Given the description of an element on the screen output the (x, y) to click on. 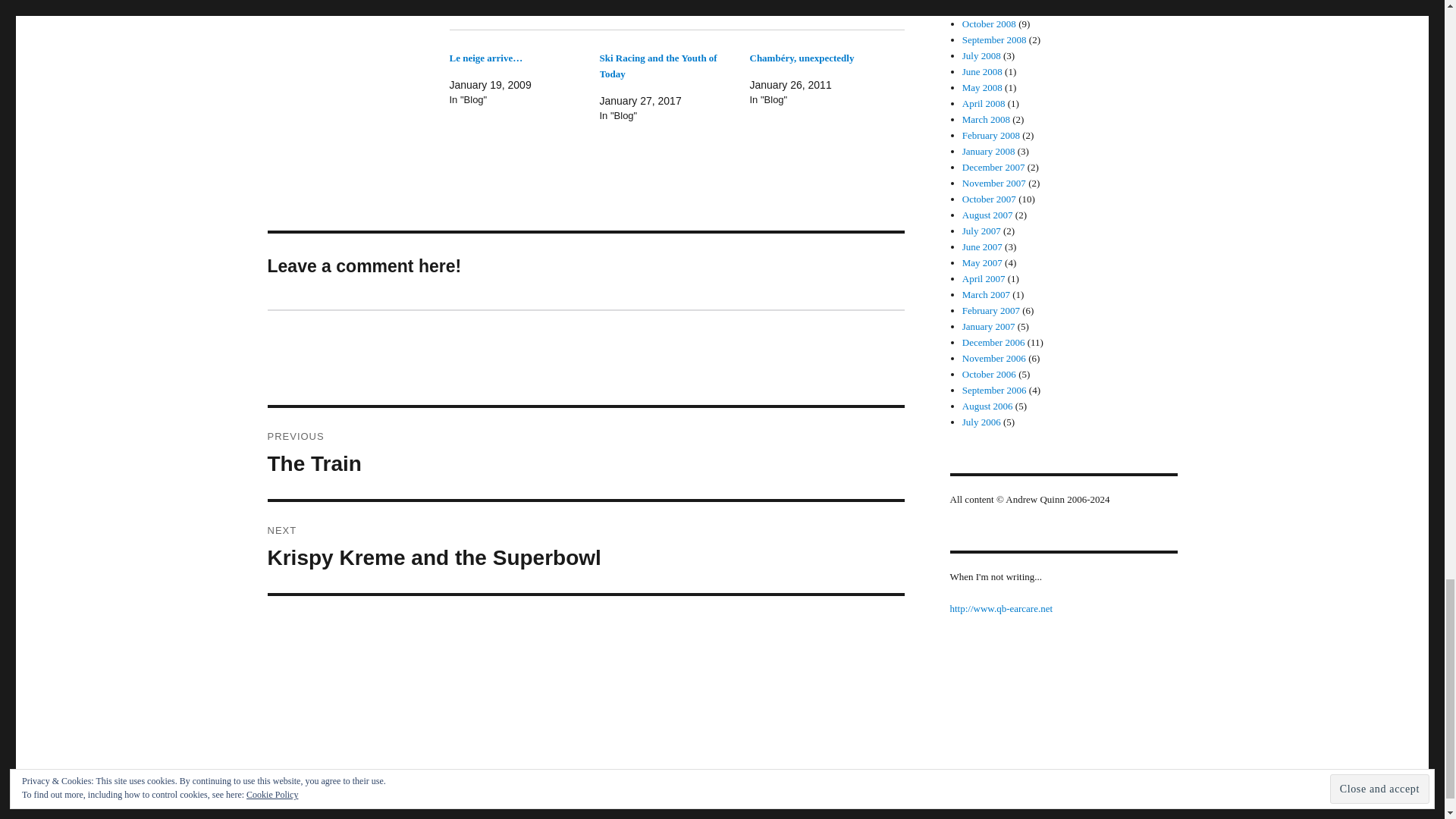
Ski Racing and the Youth of Today (657, 65)
Like or Reblog (676, 7)
Ski Racing and the Youth of Today (657, 65)
